Given the description of an element on the screen output the (x, y) to click on. 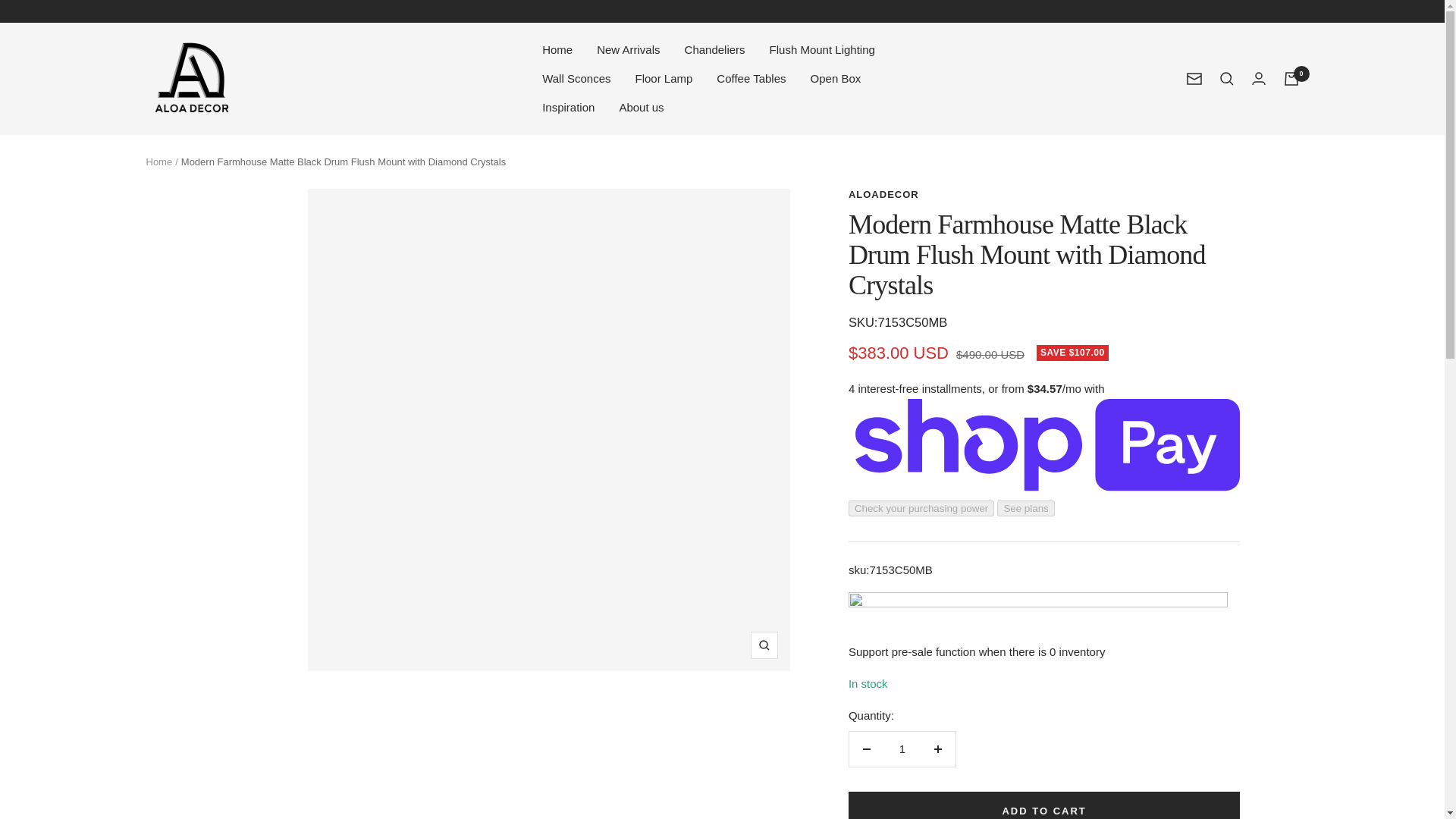
Home (158, 161)
Open Box (835, 78)
Flush Mount Lighting (822, 49)
Home (556, 49)
0 (1291, 78)
ALOADECOR (190, 78)
Inspiration (567, 107)
About us (640, 107)
1 (901, 749)
New Arrivals (627, 49)
